Given the description of an element on the screen output the (x, y) to click on. 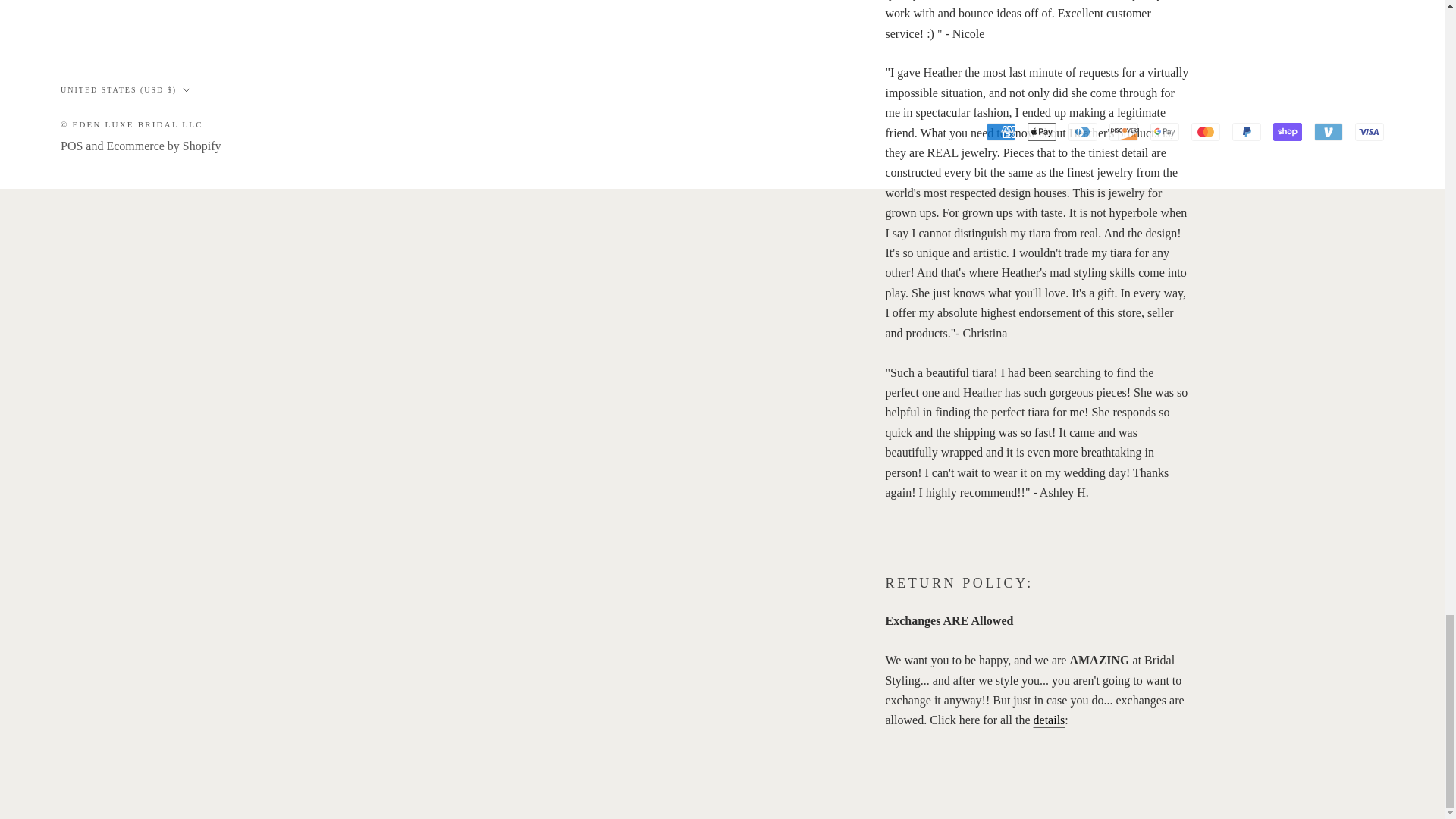
Return Policy (1049, 719)
Mastercard (1205, 131)
PayPal (1245, 131)
Venmo (1328, 131)
Shop Pay (1286, 131)
Google Pay (1164, 131)
Apple Pay (1042, 131)
American Express (1000, 131)
Discover (1123, 131)
Diners Club (1082, 131)
